Given the description of an element on the screen output the (x, y) to click on. 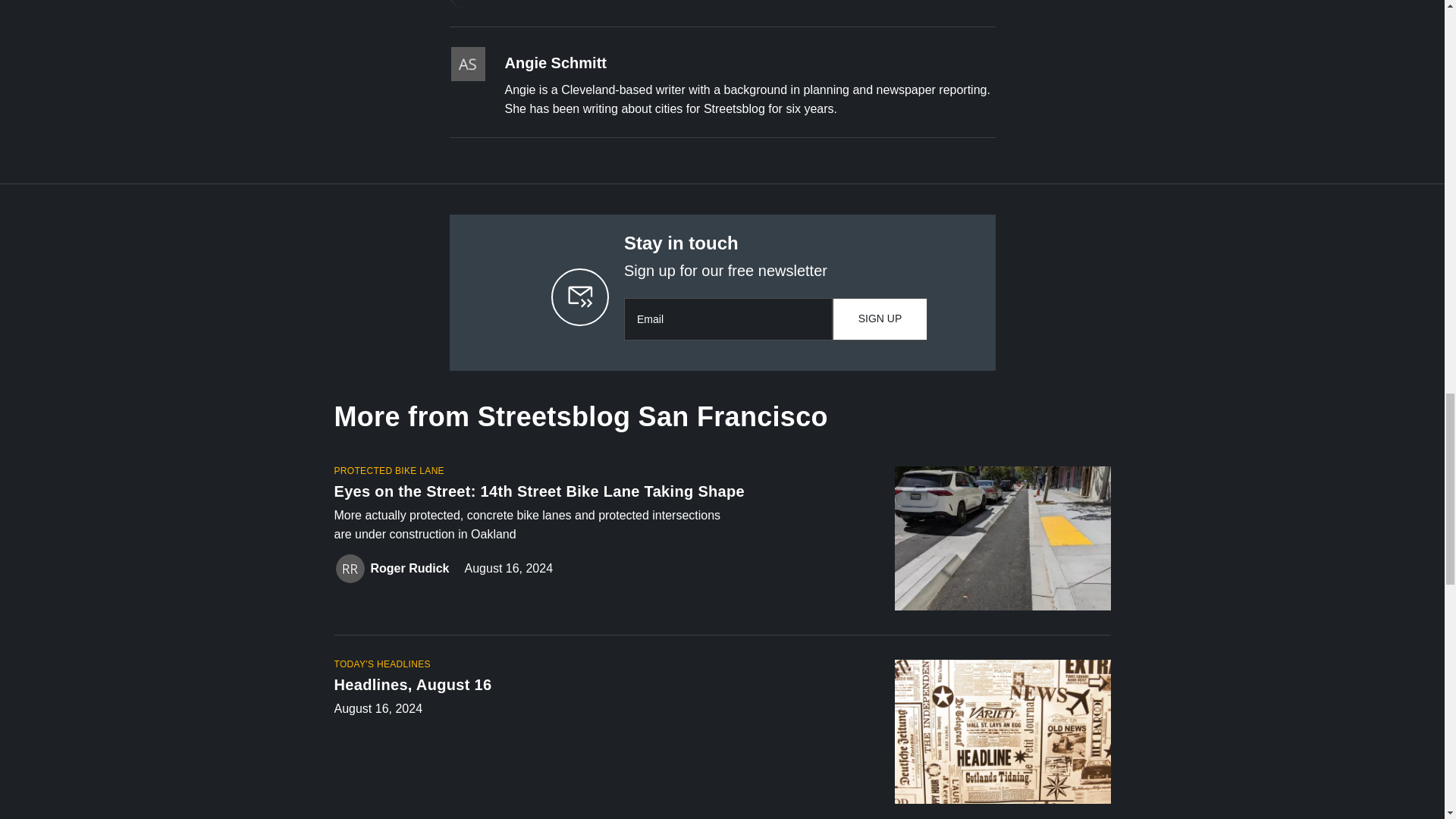
Share on Reddit (523, 4)
Angie Schmitt (556, 63)
Share on Email (552, 4)
Share on Facebook (464, 4)
